Given the description of an element on the screen output the (x, y) to click on. 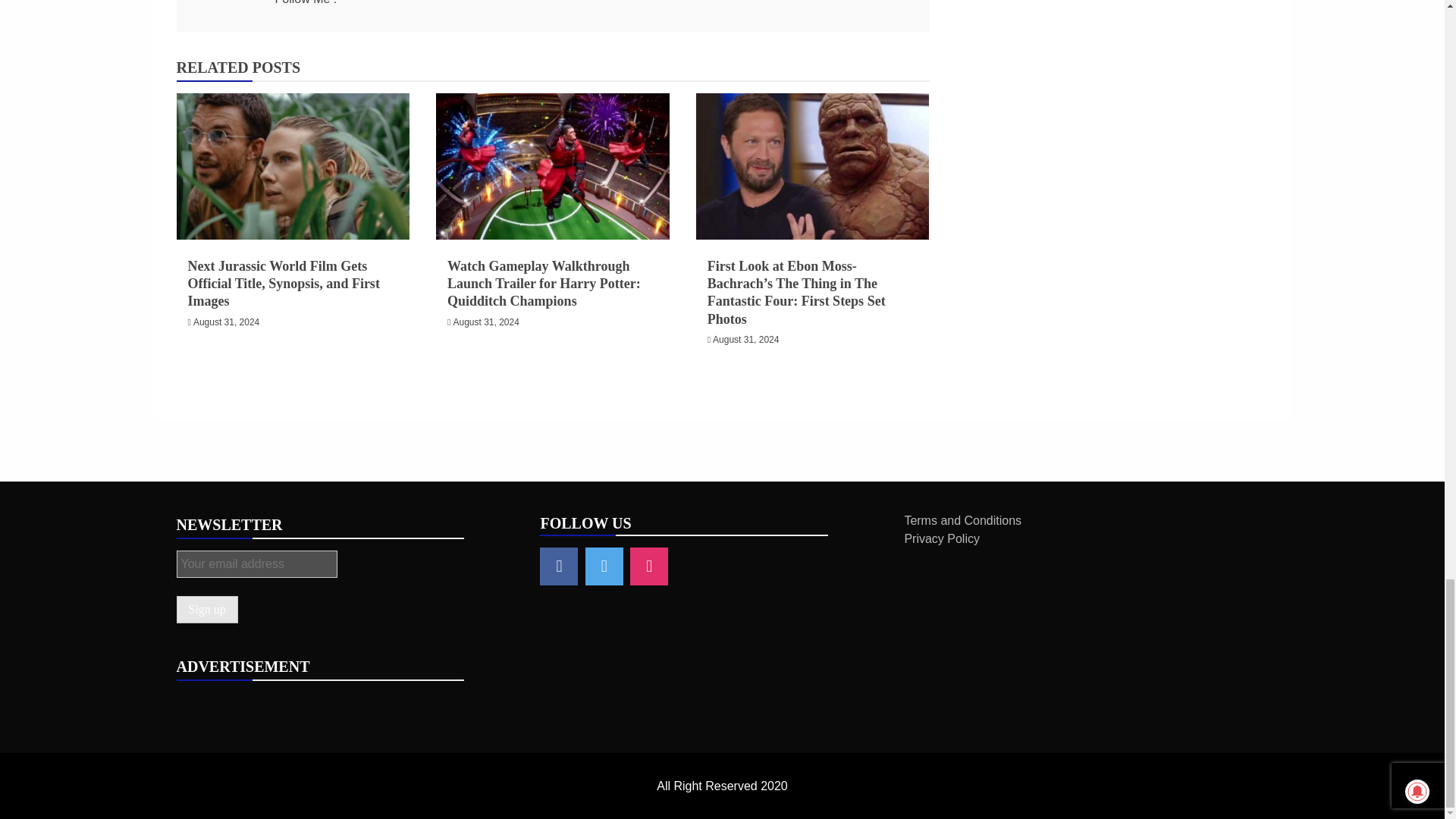
Sign up (206, 609)
